Given the description of an element on the screen output the (x, y) to click on. 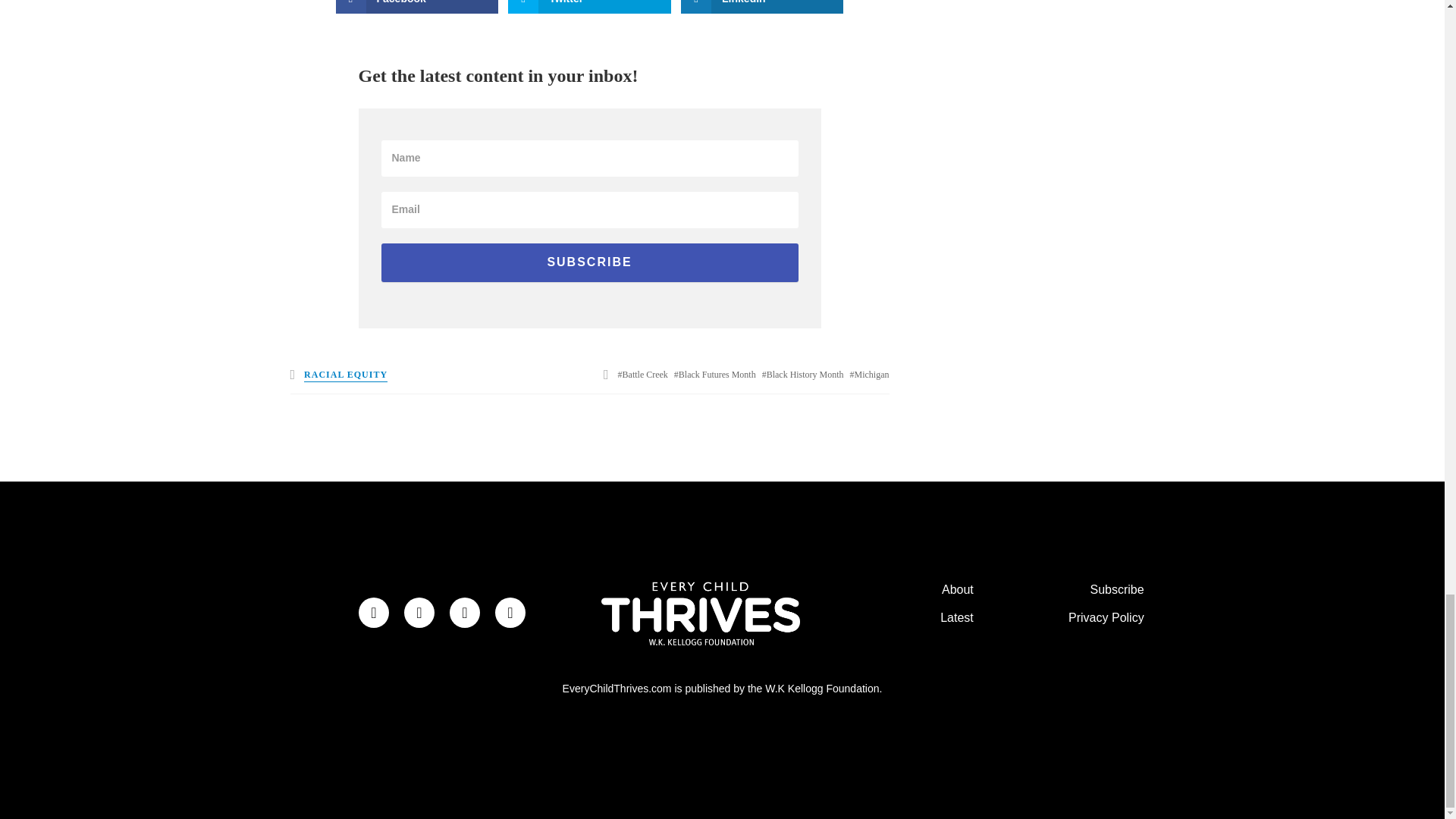
SUBSCRIBE (588, 262)
